Given the description of an element on the screen output the (x, y) to click on. 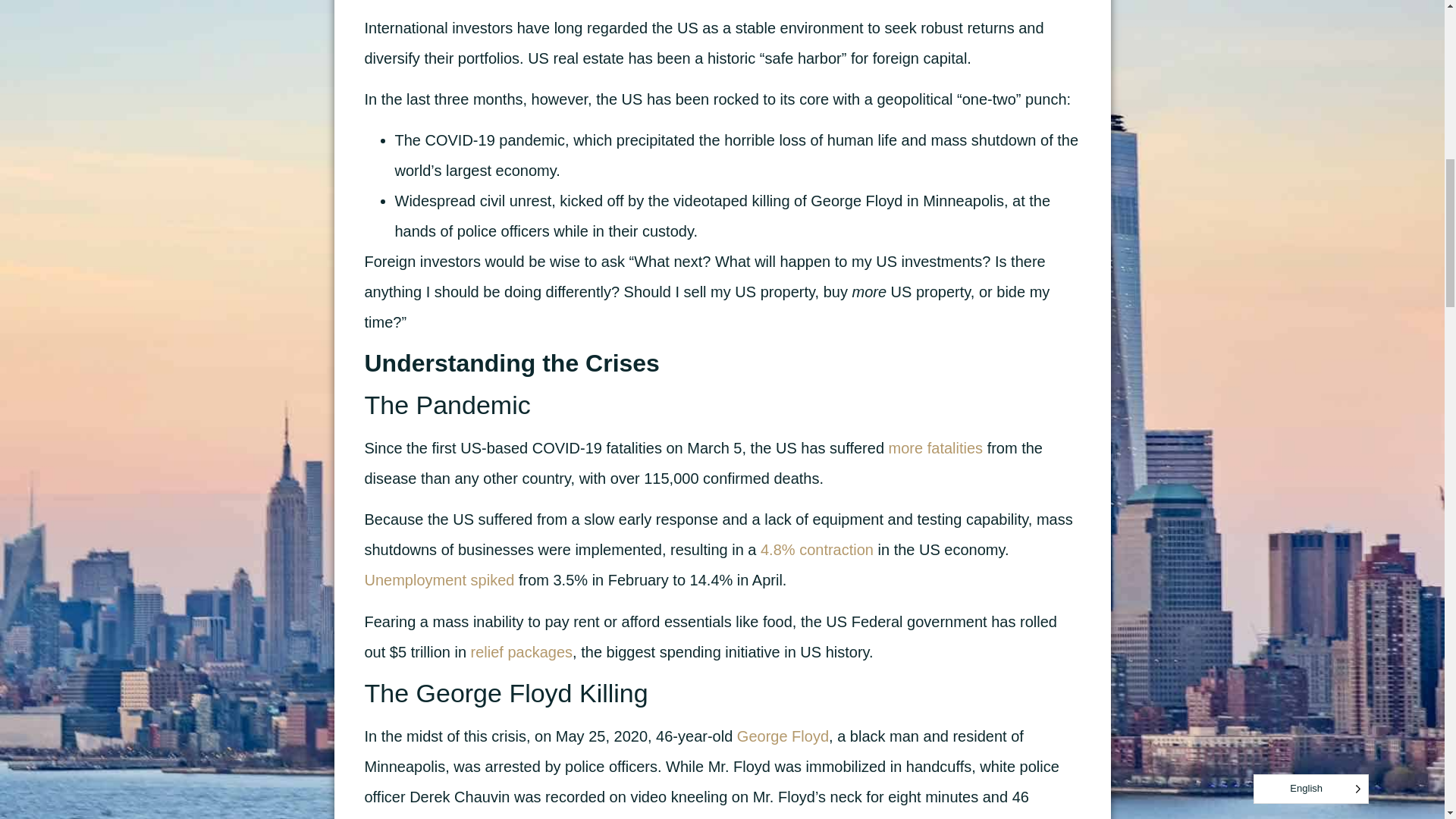
George Floyd (782, 736)
relief packages (521, 651)
more fatalities (936, 447)
Unemployment spiked (438, 579)
